Given the description of an element on the screen output the (x, y) to click on. 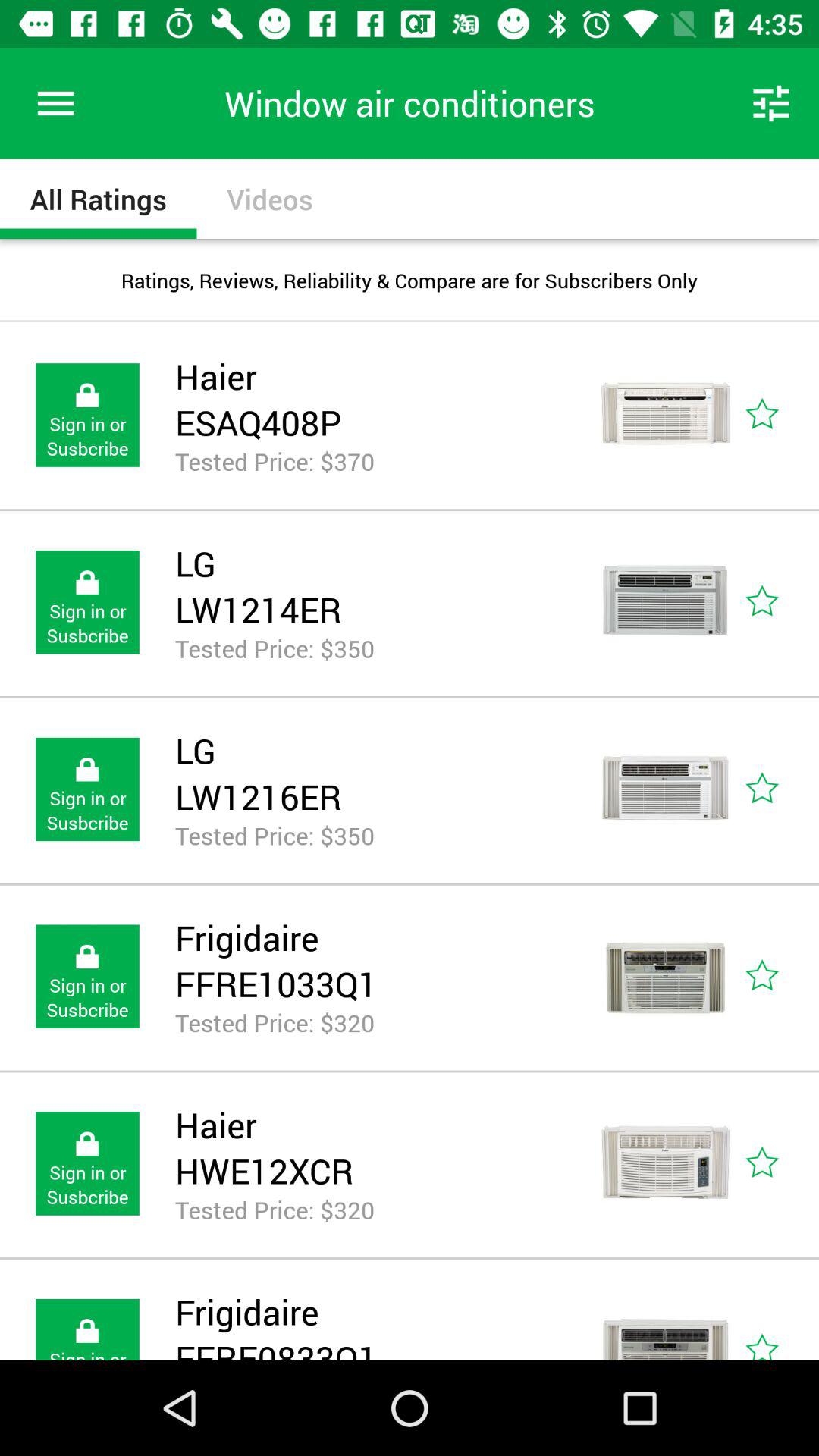
favorite a product (779, 789)
